Given the description of an element on the screen output the (x, y) to click on. 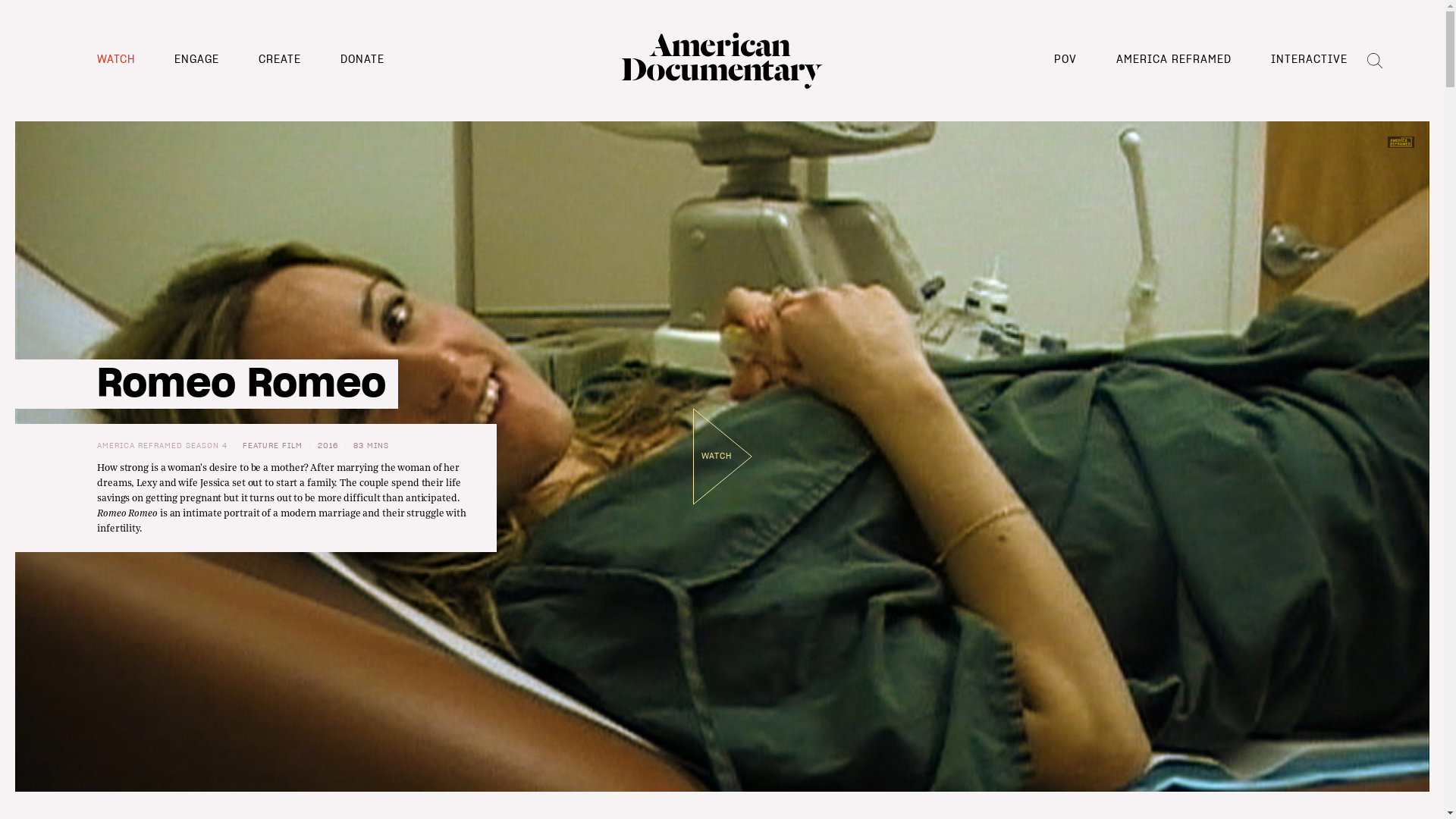
AMERICA REFRAMED (1173, 59)
ENGAGE (196, 59)
Expand search (1374, 60)
Toggle search (1374, 60)
INTERACTIVE (1309, 59)
WATCH (116, 59)
DONATE (362, 59)
American Documentary (722, 60)
CREATE (280, 59)
POV (1065, 59)
